Given the description of an element on the screen output the (x, y) to click on. 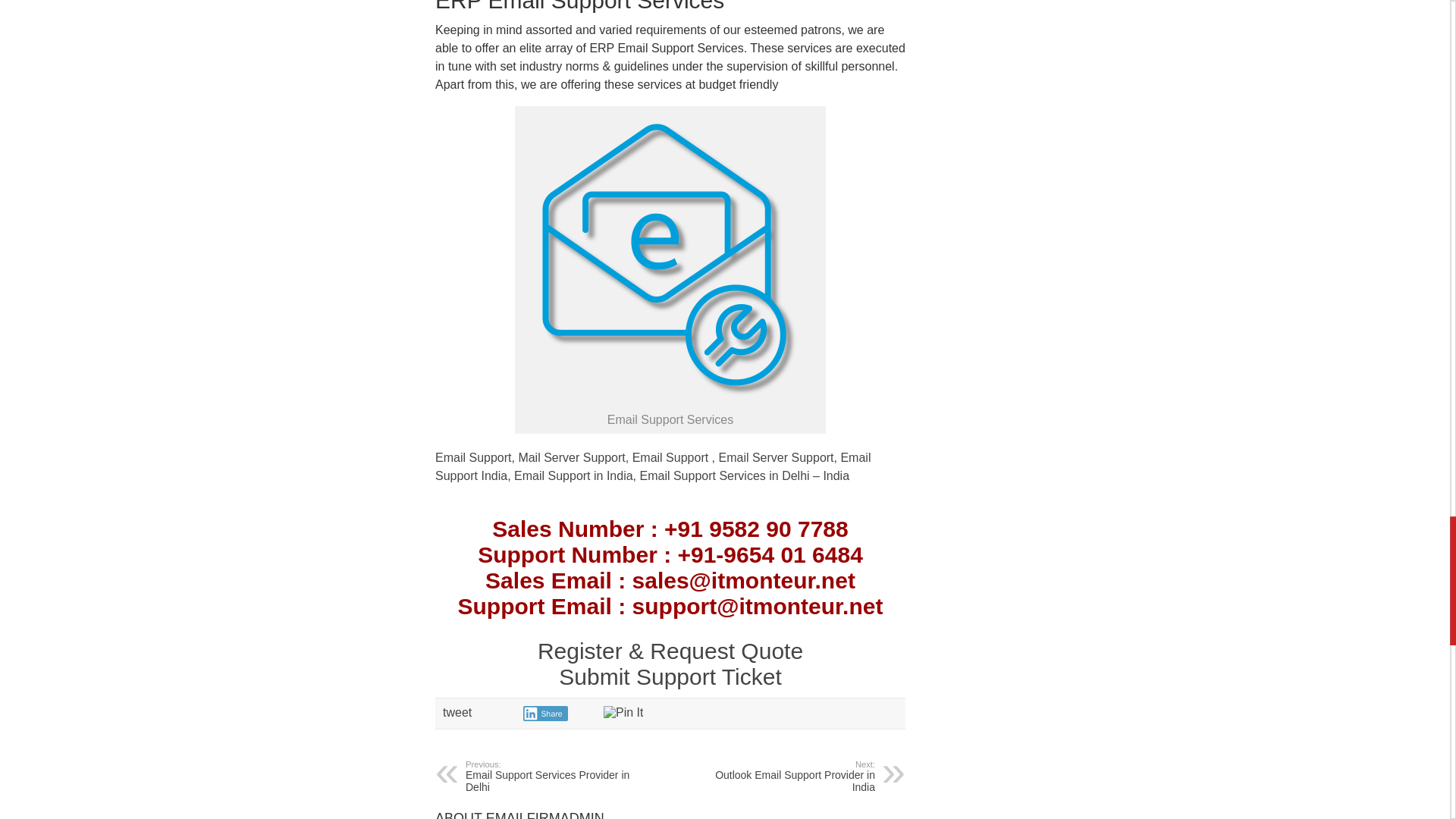
Email Support Services (669, 257)
Pin It (623, 712)
